Given the description of an element on the screen output the (x, y) to click on. 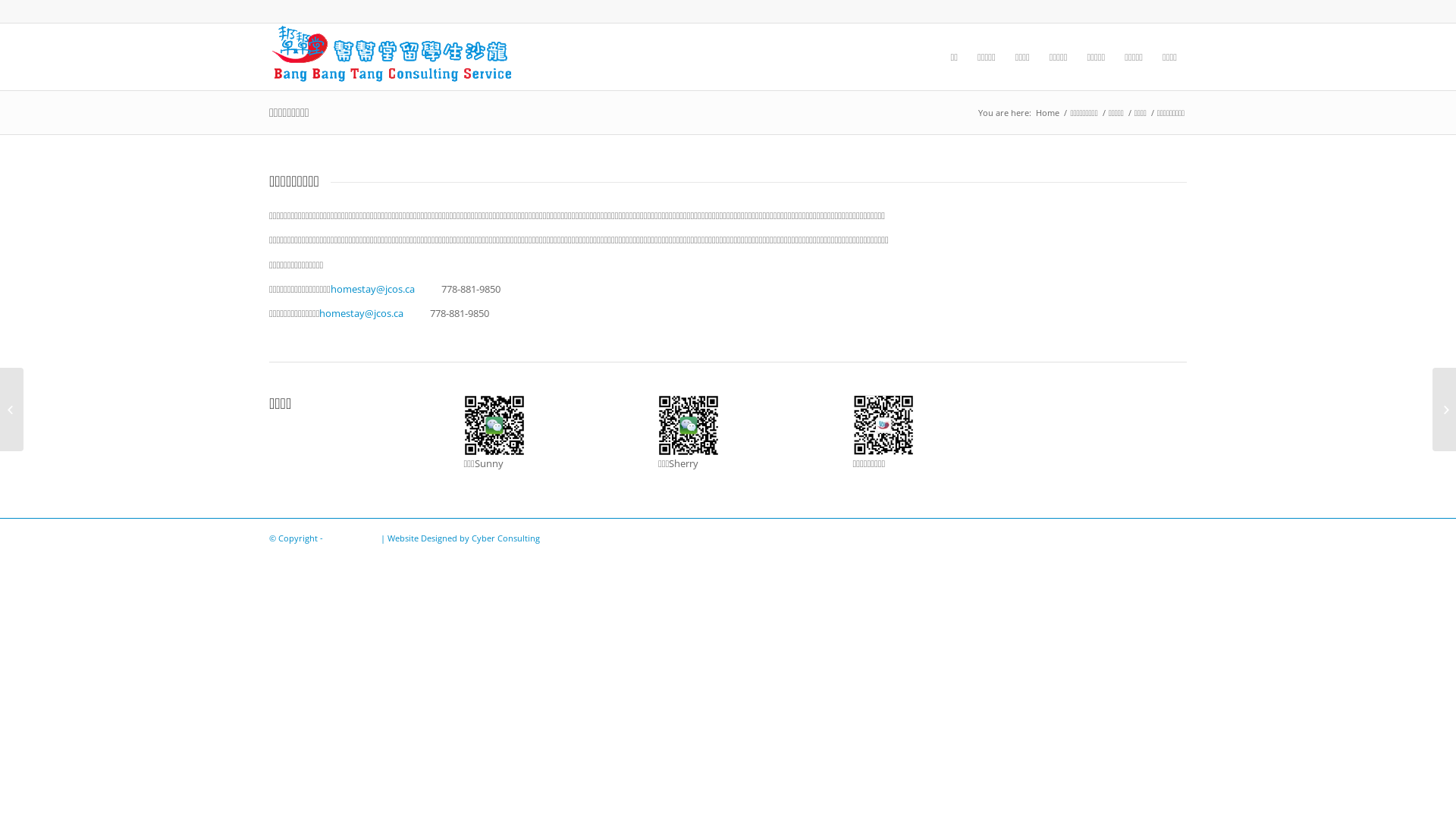
Stella Element type: hover (688, 425)
bolun Element type: hover (882, 425)
homestay@jcos.ca Element type: text (372, 288)
Website Designed by Cyber Consulting Element type: text (463, 537)
Lu Element type: hover (494, 425)
homestay@jcos.ca Element type: text (361, 313)
Home Element type: text (1047, 112)
